Given the description of an element on the screen output the (x, y) to click on. 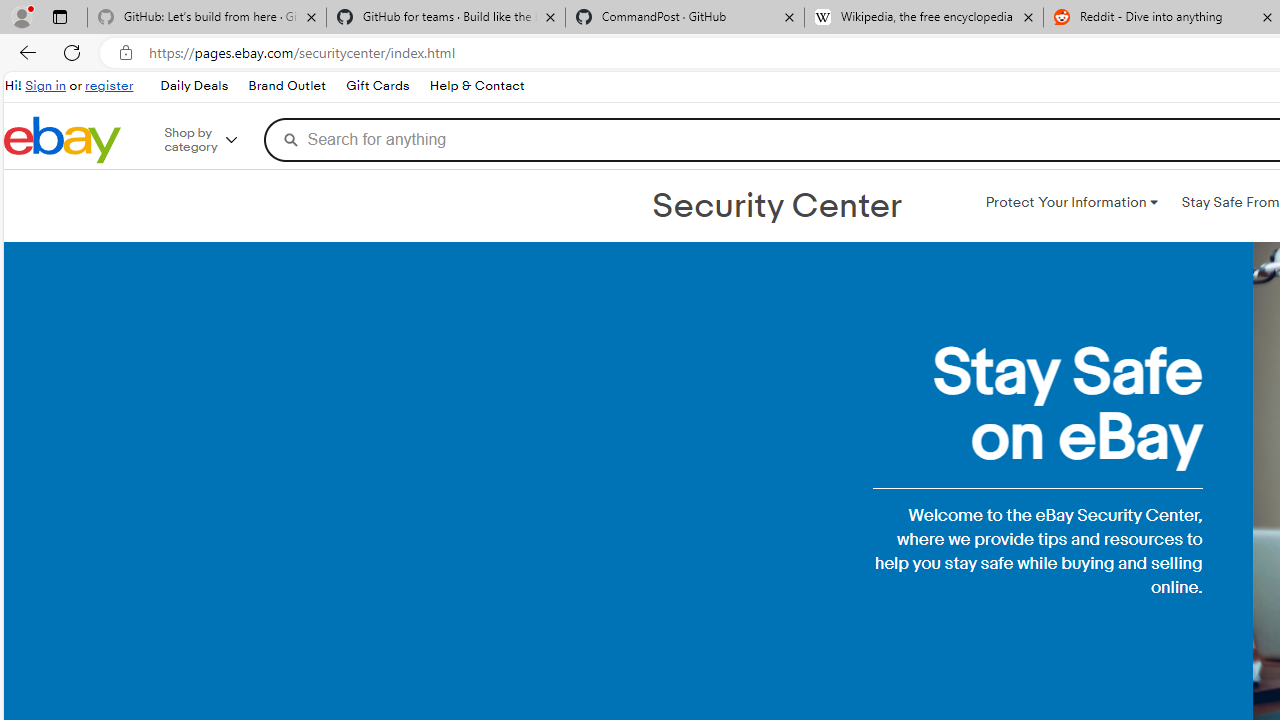
eBay Home (62, 139)
Brand Outlet (287, 86)
register (109, 85)
Help & Contact (475, 85)
Shop by category (213, 140)
Protect Your Information  (1071, 202)
Daily Deals (193, 85)
Brand Outlet (285, 85)
